Given the description of an element on the screen output the (x, y) to click on. 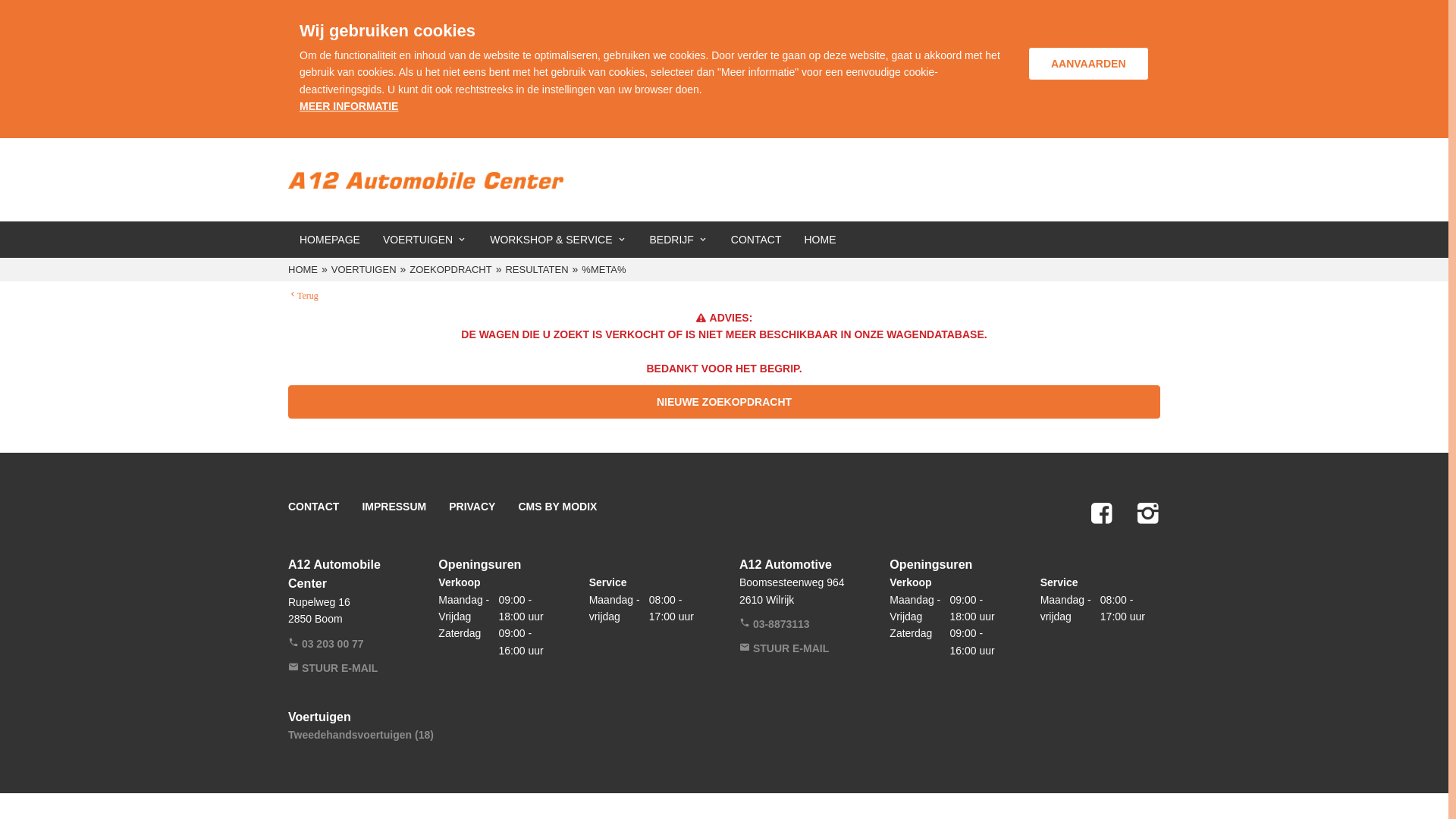
HOMEPAGE Element type: text (329, 239)
03-8873113 Element type: text (774, 624)
STUUR E-MAIL Element type: text (332, 668)
HOME Element type: text (819, 239)
AANVAARDEN Element type: text (1088, 63)
CONTACT Element type: text (756, 239)
RESULTATEN Element type: text (538, 269)
STUUR E-MAIL Element type: text (783, 648)
VOERTUIGEN Element type: text (365, 269)
BEDRIJF Element type: text (678, 239)
Weitere Informationen Element type: hover (425, 179)
MEER INFORMATIE Element type: text (348, 106)
 Terug Element type: text (303, 293)
VOERTUIGEN Element type: text (424, 239)
WORKSHOP & SERVICE Element type: text (557, 239)
HOME Element type: text (304, 269)
Naar onze Facebook-pagina Element type: hover (1100, 512)
PRIVACY Element type: text (471, 506)
Instagram Element type: hover (1147, 512)
03 203 00 77 Element type: text (326, 643)
NIEUWE ZOEKOPDRACHT Element type: text (724, 401)
ZOEKOPDRACHT Element type: text (452, 269)
IMPRESSUM Element type: text (393, 506)
CONTACT Element type: text (313, 506)
%META% Element type: text (605, 269)
Tweedehandsvoertuigen (18) Element type: text (360, 734)
CMS BY MODIX Element type: text (556, 506)
